Given the description of an element on the screen output the (x, y) to click on. 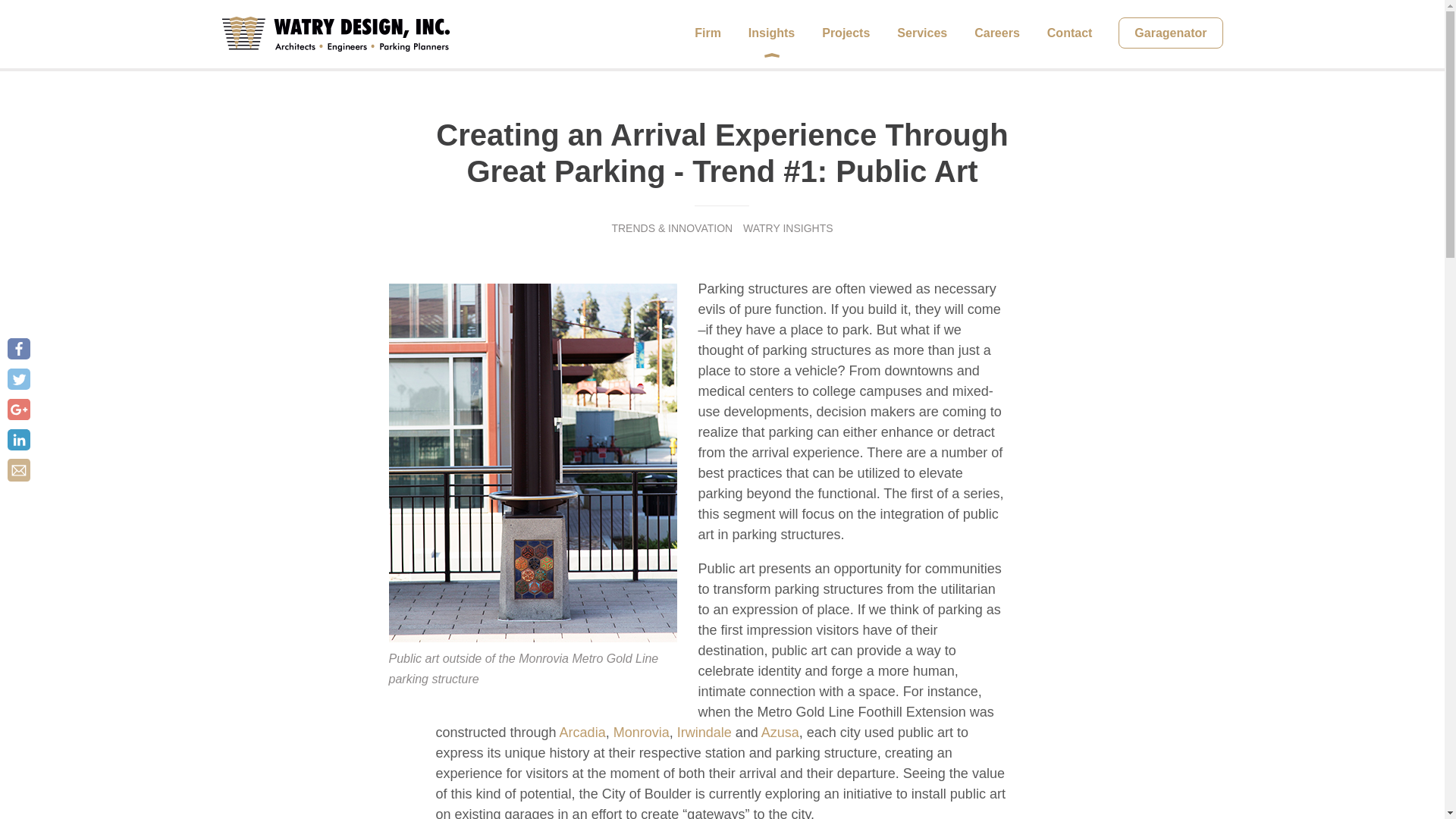
Arcadia (582, 732)
Monrovia (640, 732)
Irwindale (706, 732)
Insights (771, 33)
Garagenator (1170, 32)
homepage (334, 33)
Careers (996, 33)
Contact (1069, 33)
Azusa (780, 732)
Services (922, 33)
